Given the description of an element on the screen output the (x, y) to click on. 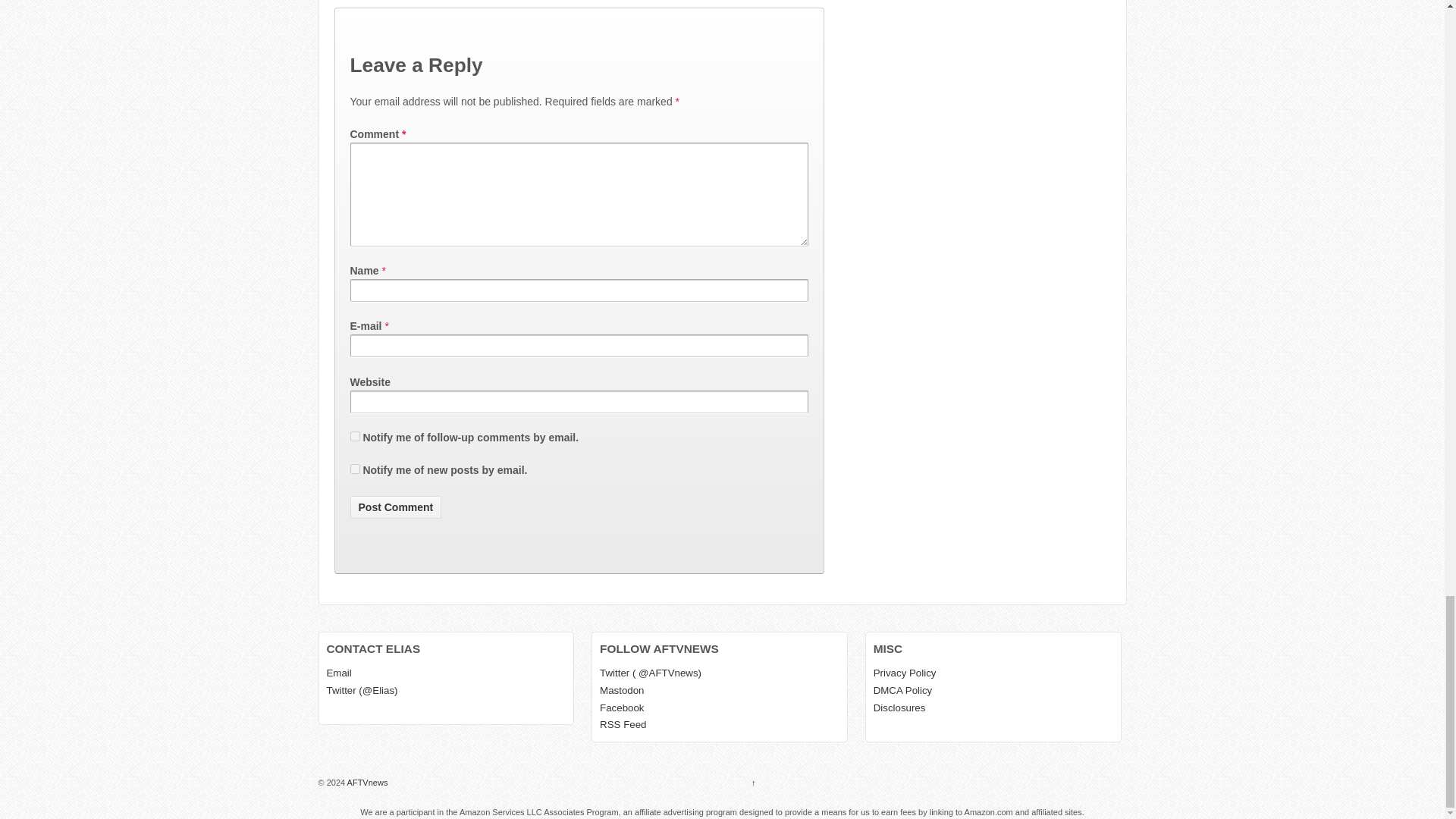
Post Comment (396, 507)
subscribe (354, 436)
subscribe (354, 469)
